Given the description of an element on the screen output the (x, y) to click on. 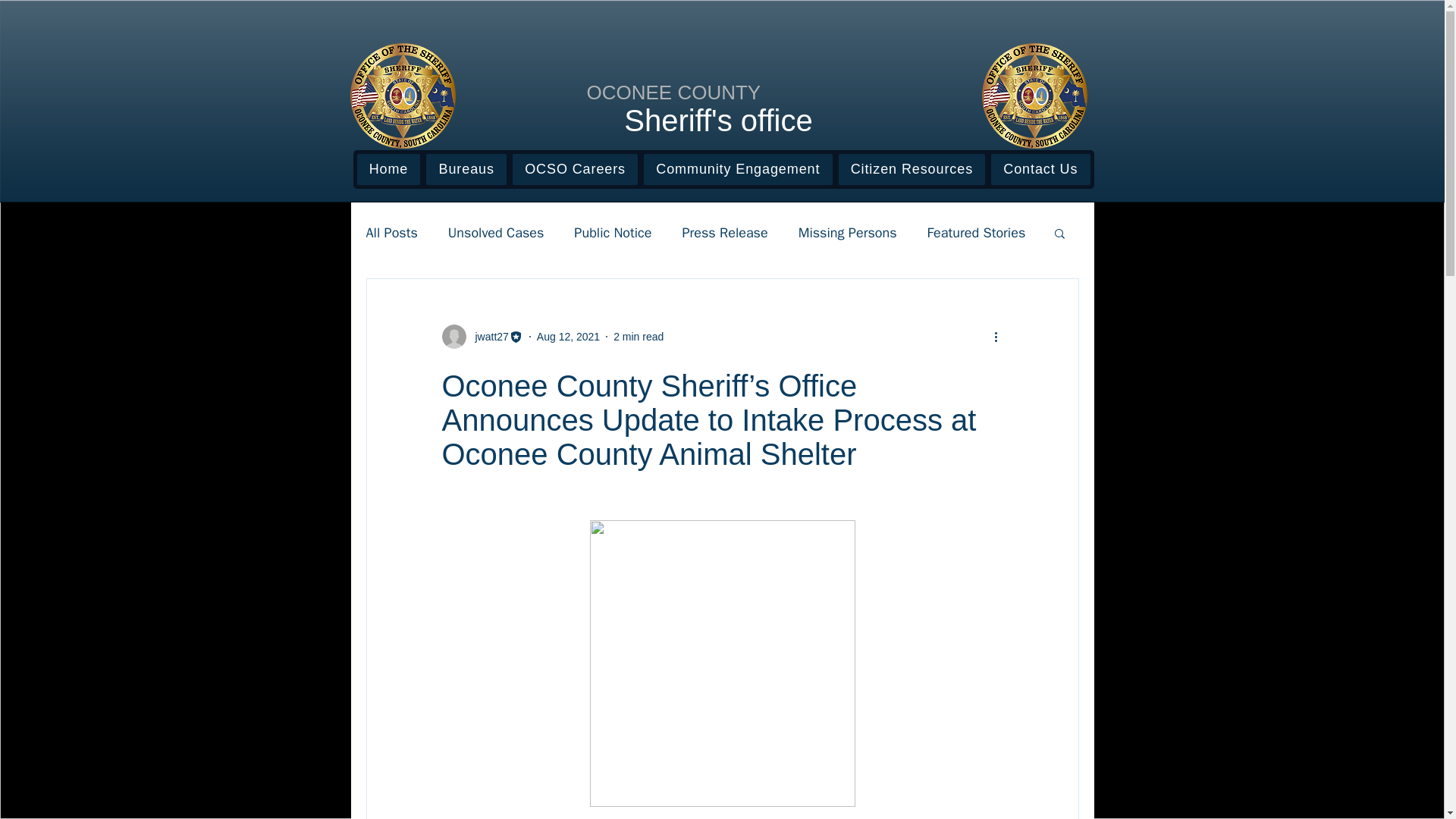
All Posts (390, 232)
2 min read (637, 336)
Aug 12, 2021 (568, 336)
OCSO Careers (574, 169)
Sheriff's office (718, 120)
OCONEE COUNTY (673, 92)
Home (388, 169)
Public Notice (611, 232)
jwatt27 (486, 336)
Unsolved Cases (496, 232)
